Given the description of an element on the screen output the (x, y) to click on. 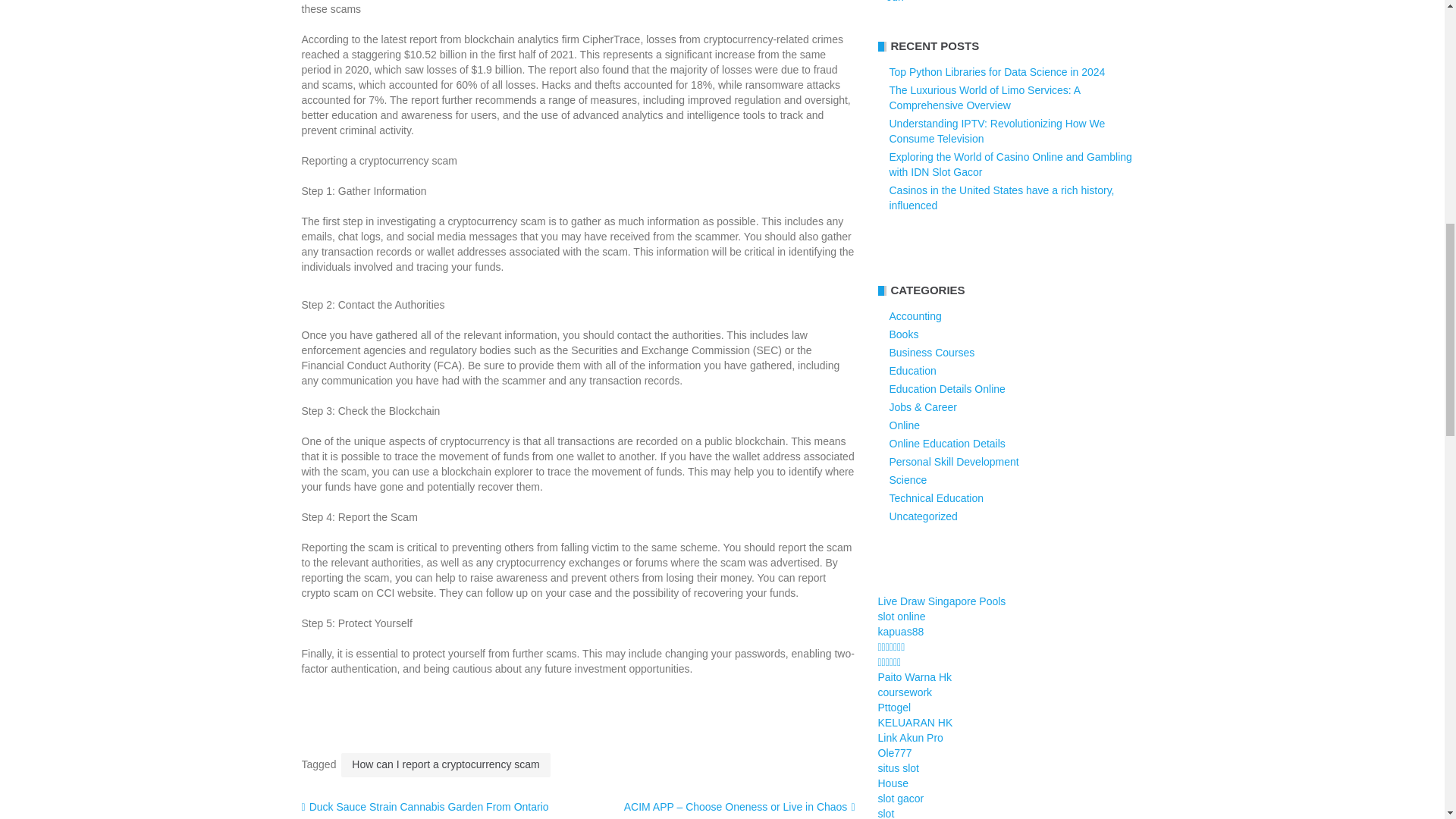
Books (903, 334)
Accounting (914, 316)
Business Courses (931, 352)
Casinos in the United States have a rich history, influenced (1000, 197)
Education Details Online (946, 388)
Top Python Libraries for Data Science in 2024 (996, 71)
Duck Sauce Strain Cannabis Garden From Ontario (424, 806)
Education (912, 370)
How can I report a cryptocurrency scam (445, 764)
